Given the description of an element on the screen output the (x, y) to click on. 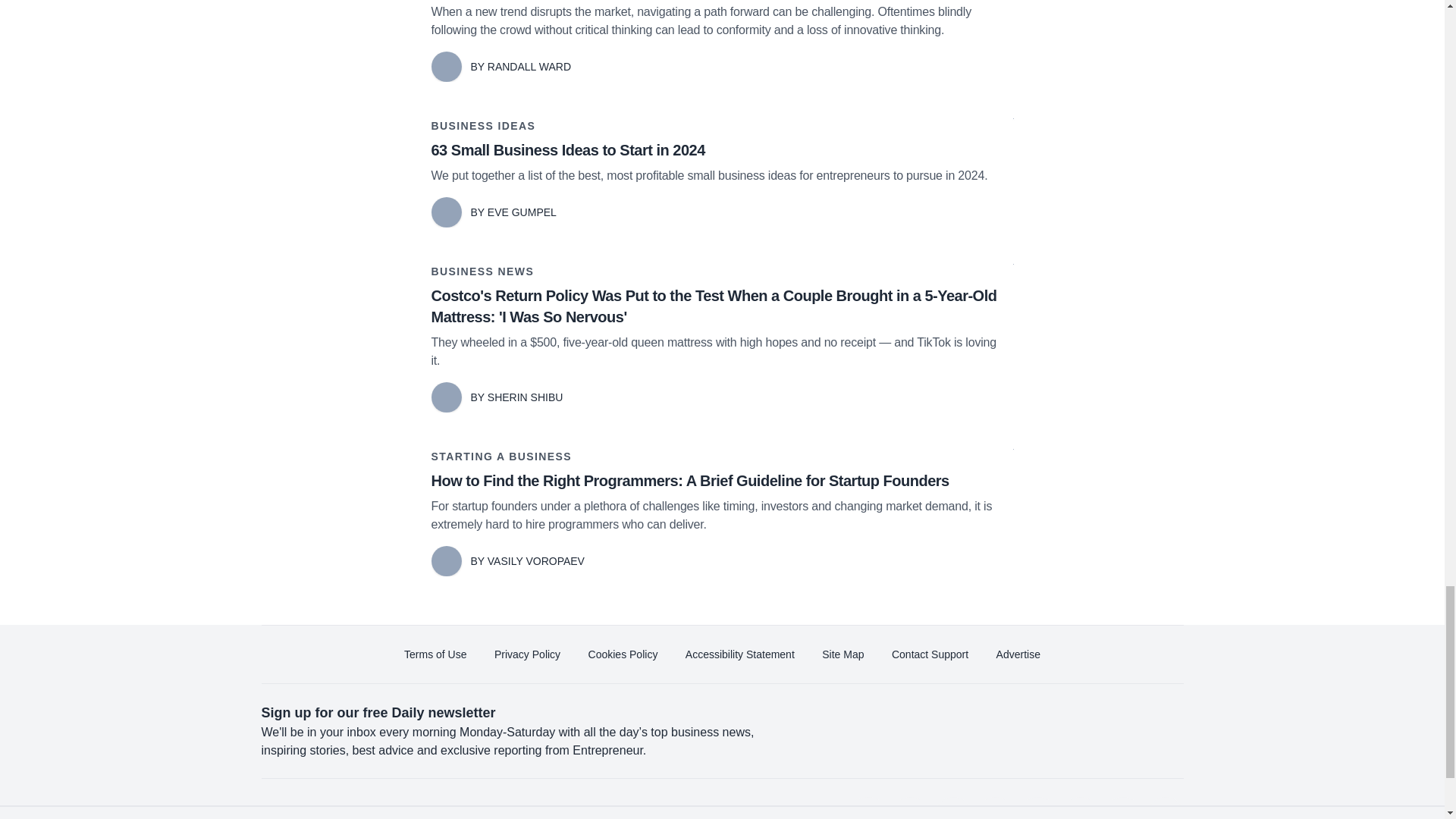
rss (1164, 807)
snapchat (1121, 807)
twitter (909, 807)
youtube (994, 807)
tiktok (1079, 807)
linkedin (952, 807)
facebook (866, 807)
instagram (1037, 807)
